Given the description of an element on the screen output the (x, y) to click on. 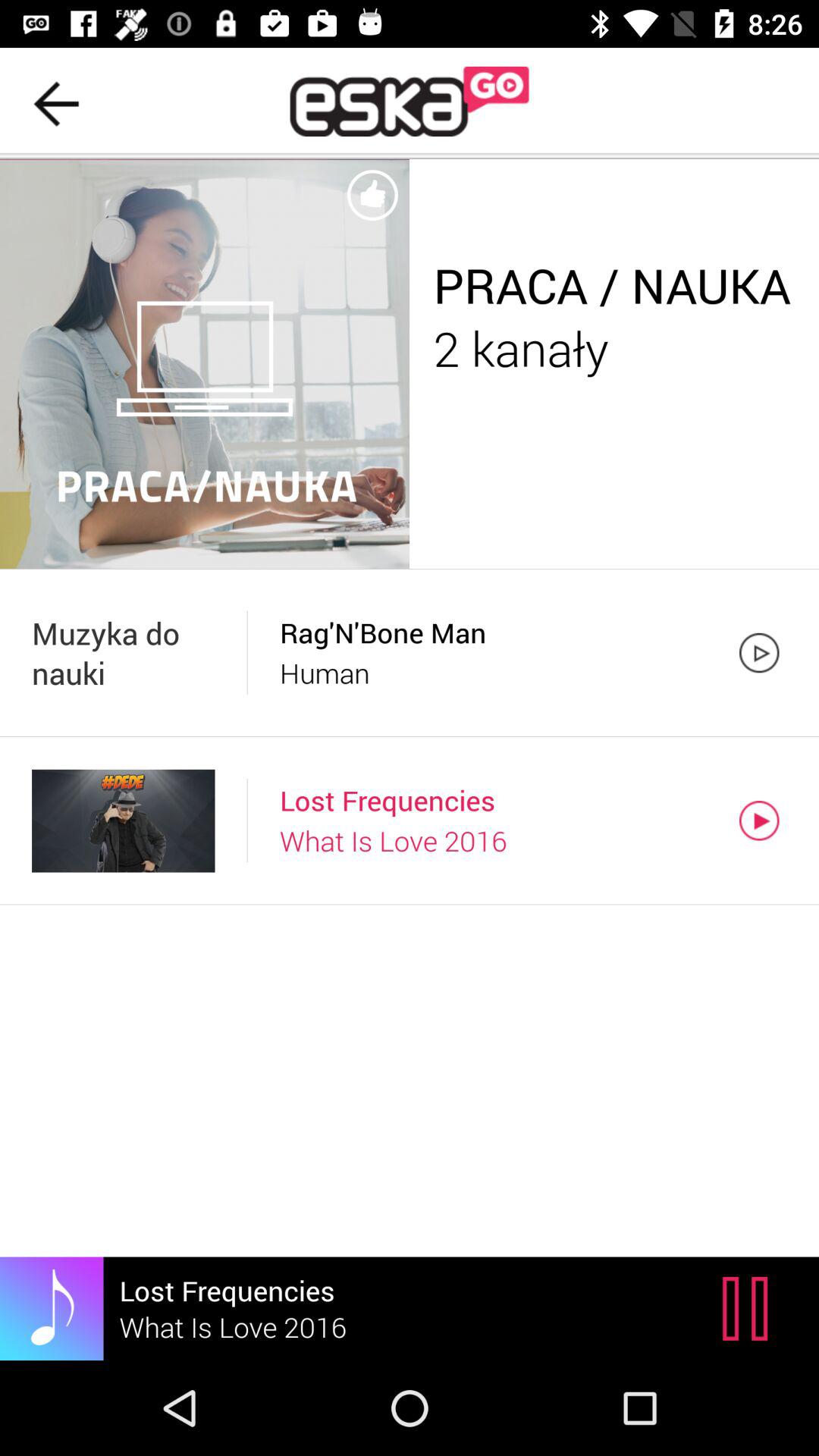
turn on icon to the right of the lost frequencies (749, 1308)
